Given the description of an element on the screen output the (x, y) to click on. 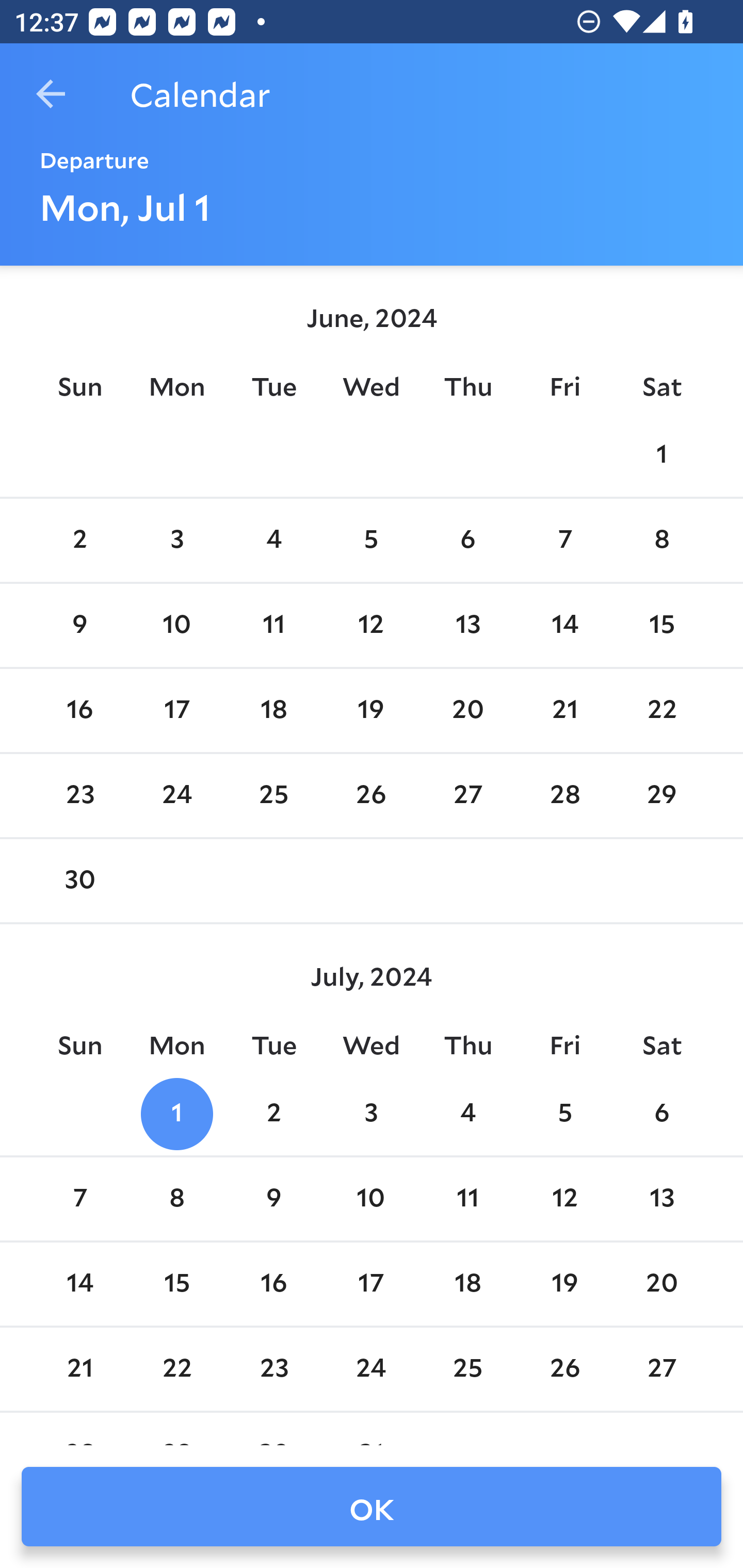
Navigate up (50, 93)
1 (661, 454)
2 (79, 540)
3 (177, 540)
4 (273, 540)
5 (371, 540)
6 (467, 540)
7 (565, 540)
8 (661, 540)
9 (79, 625)
10 (177, 625)
11 (273, 625)
12 (371, 625)
13 (467, 625)
14 (565, 625)
15 (661, 625)
16 (79, 710)
17 (177, 710)
18 (273, 710)
19 (371, 710)
20 (467, 710)
21 (565, 710)
22 (661, 710)
23 (79, 796)
24 (177, 796)
25 (273, 796)
26 (371, 796)
27 (467, 796)
28 (565, 796)
29 (661, 796)
30 (79, 881)
1 (177, 1114)
2 (273, 1114)
3 (371, 1114)
4 (467, 1114)
5 (565, 1114)
6 (661, 1114)
7 (79, 1199)
8 (177, 1199)
9 (273, 1199)
10 (371, 1199)
11 (467, 1199)
12 (565, 1199)
13 (661, 1199)
14 (79, 1284)
15 (177, 1284)
16 (273, 1284)
17 (371, 1284)
18 (467, 1284)
19 (565, 1284)
20 (661, 1284)
21 (79, 1368)
22 (177, 1368)
23 (273, 1368)
24 (371, 1368)
25 (467, 1368)
26 (565, 1368)
27 (661, 1368)
OK (371, 1506)
